Given the description of an element on the screen output the (x, y) to click on. 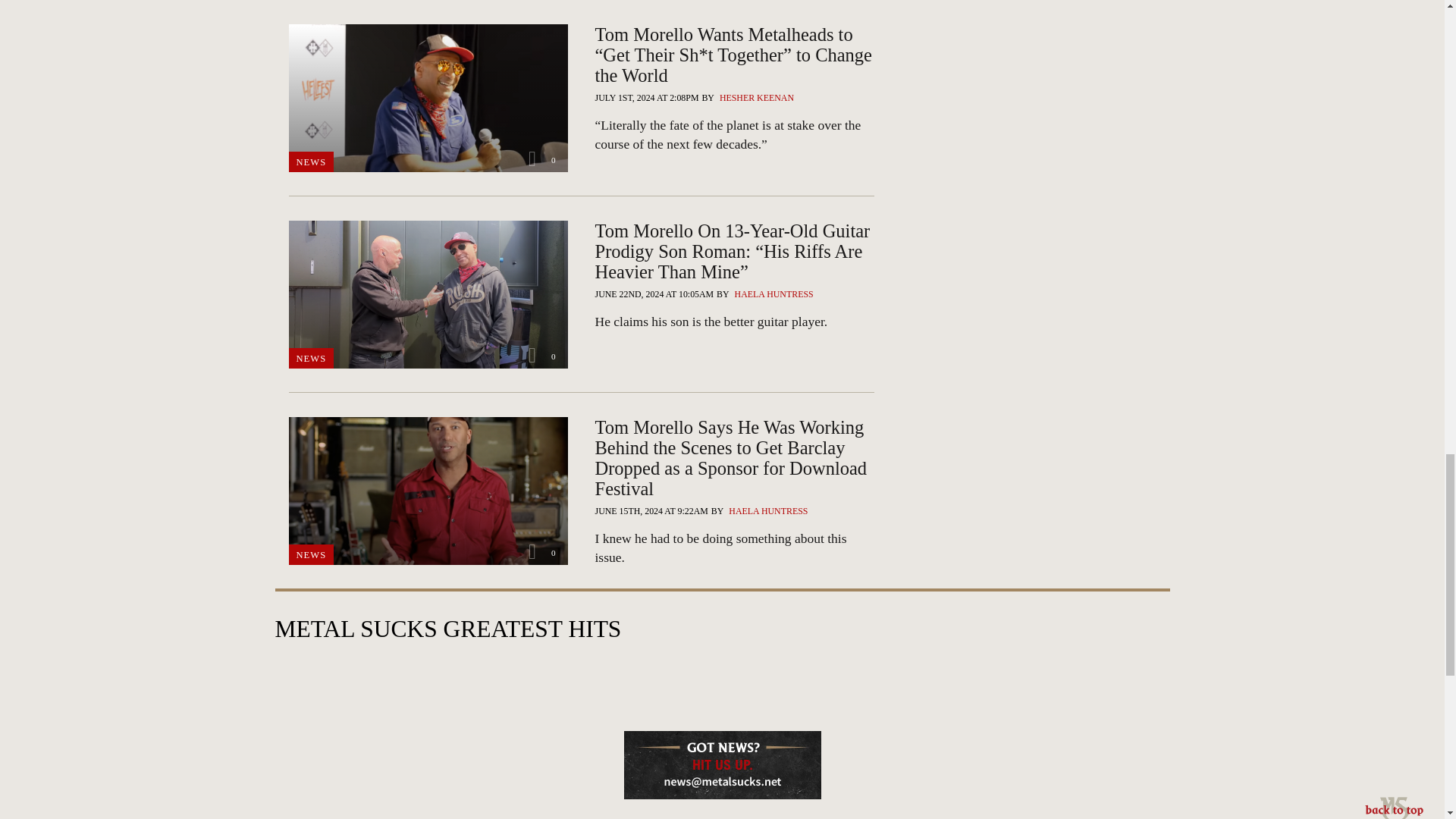
Tom Morello Wants Metalheads to  (733, 134)
Tom Morello On 13-Year-Old Guitar Prodigy Son Roman:  (733, 321)
